Given the description of an element on the screen output the (x, y) to click on. 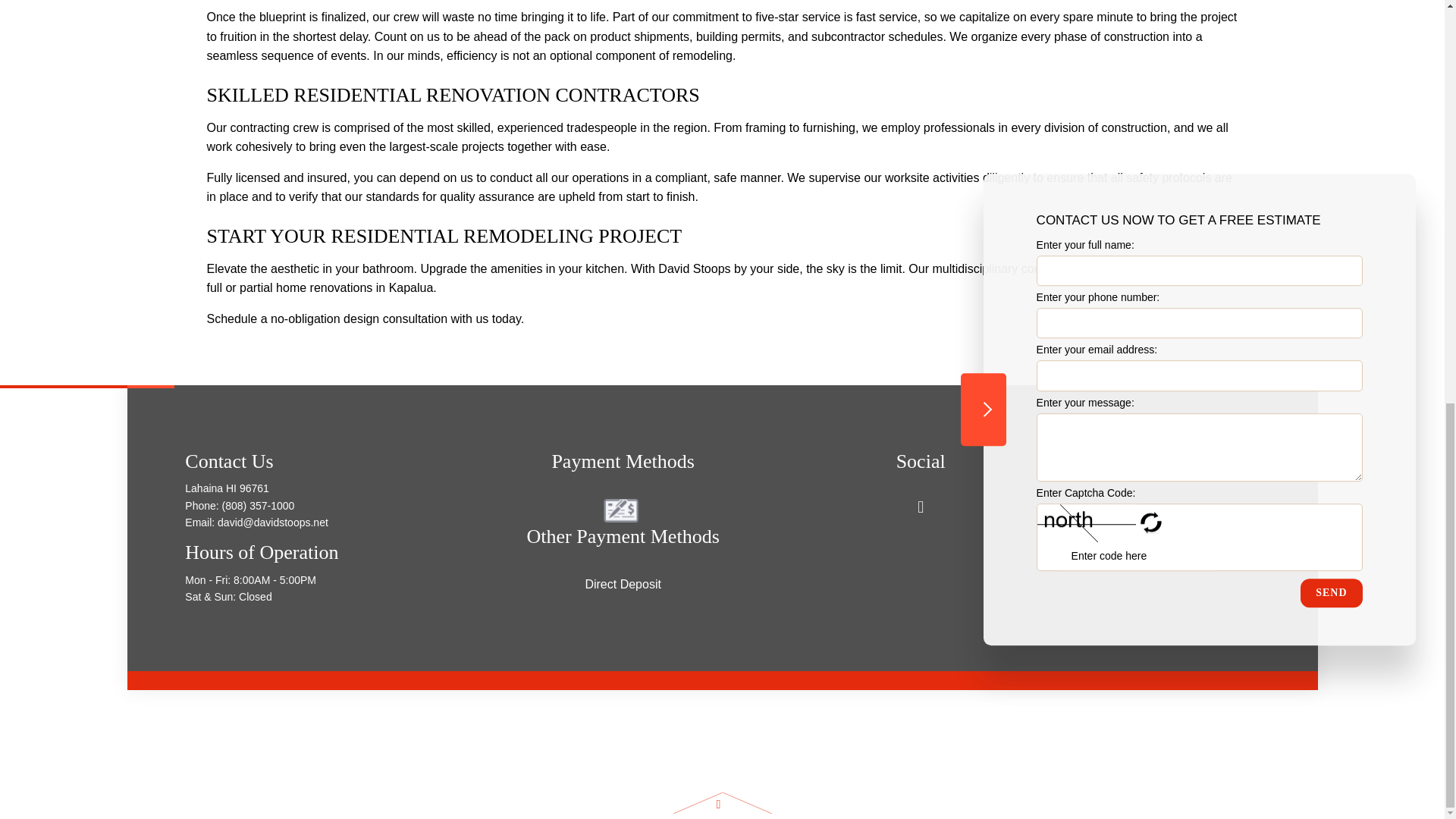
Check (621, 510)
